Given the description of an element on the screen output the (x, y) to click on. 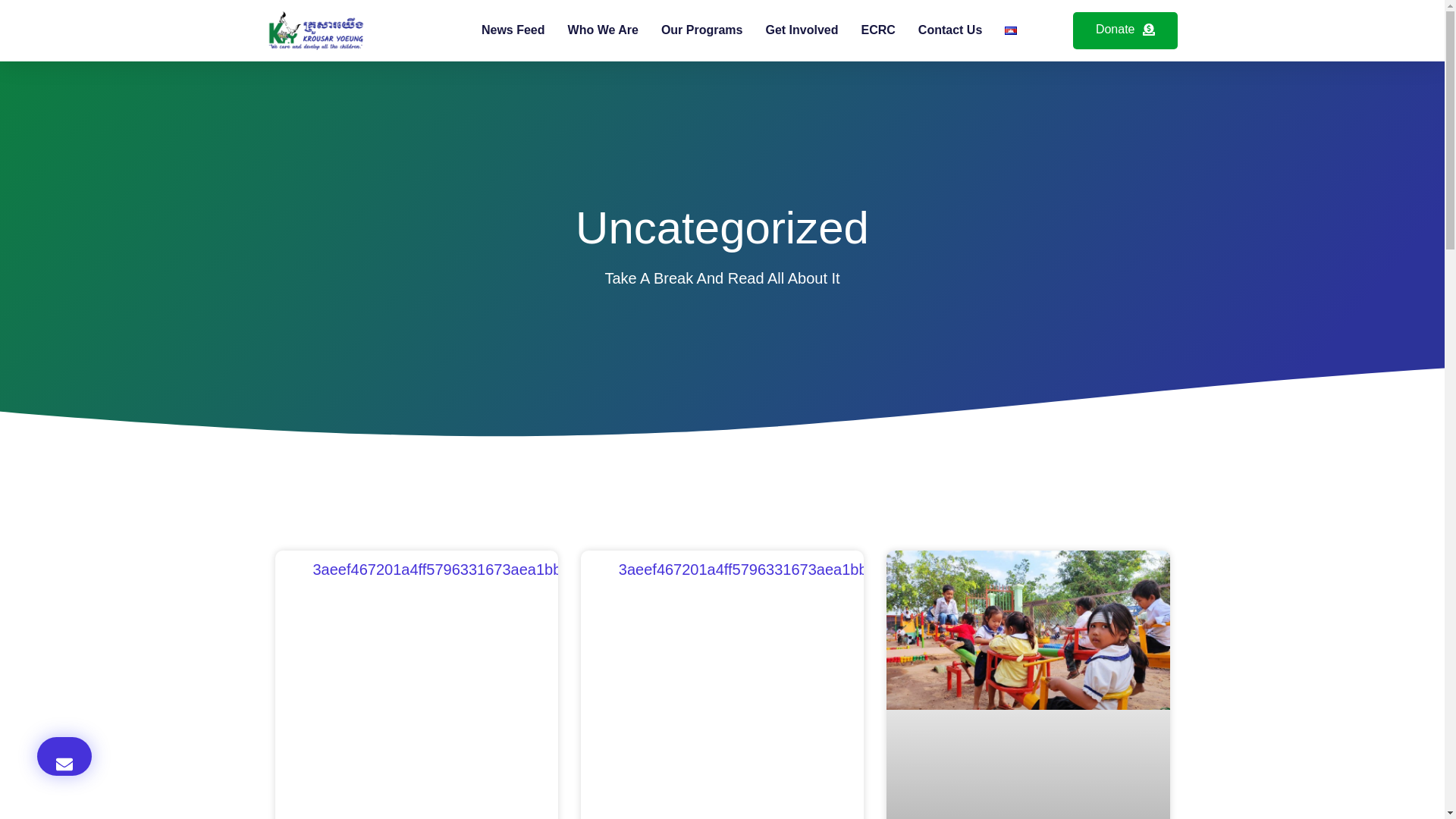
Get Involved (801, 30)
Contact Us (949, 30)
ECRC (878, 30)
Our Programs (701, 30)
Who We Are (603, 30)
News Feed (512, 30)
